Given the description of an element on the screen output the (x, y) to click on. 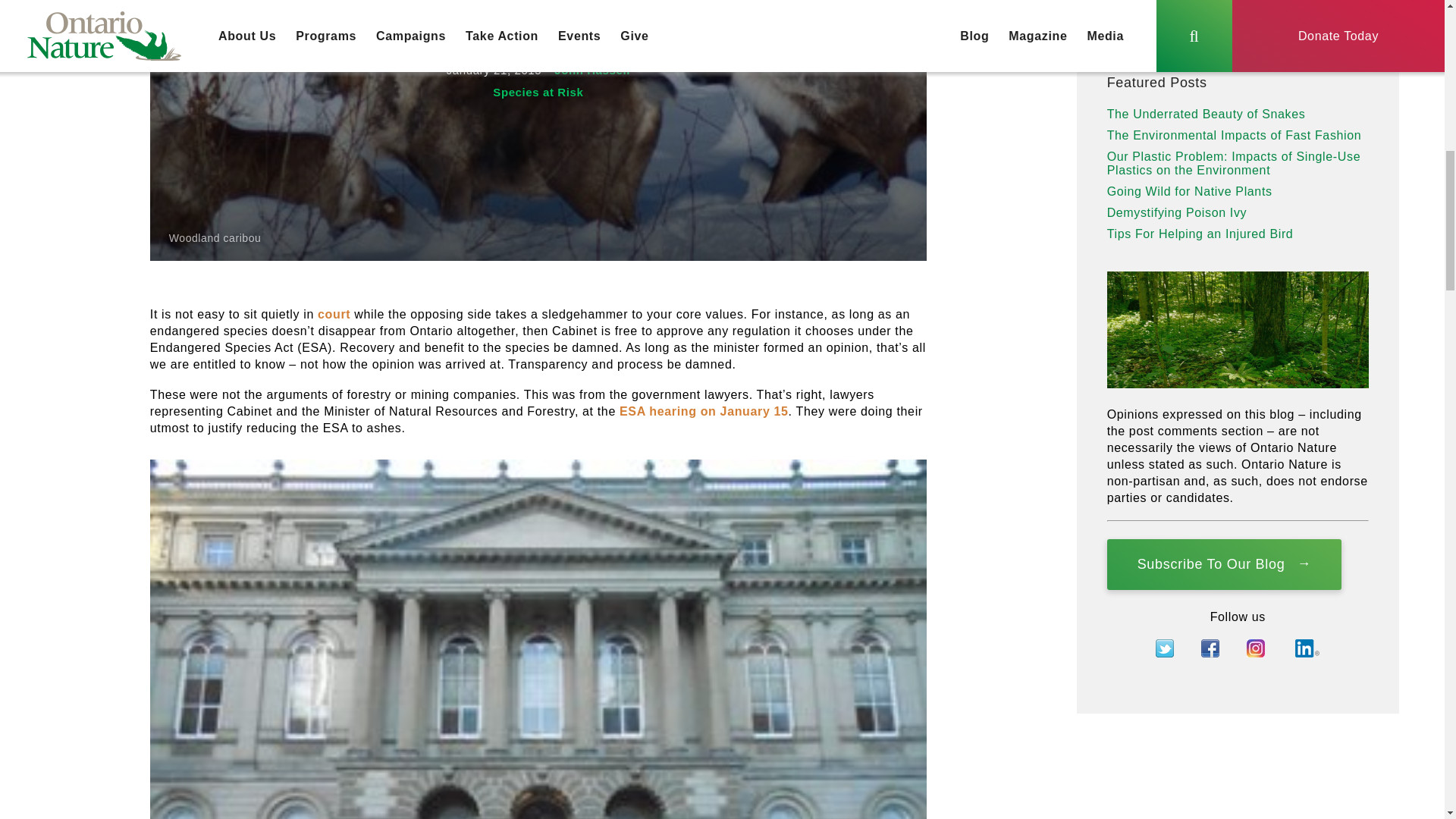
Signup to receive blog update notifications (1224, 563)
Category: Species at Risk (538, 91)
View blog posts (1349, 27)
Select a category (1218, 27)
Authored by: John Hassell (592, 69)
